Given the description of an element on the screen output the (x, y) to click on. 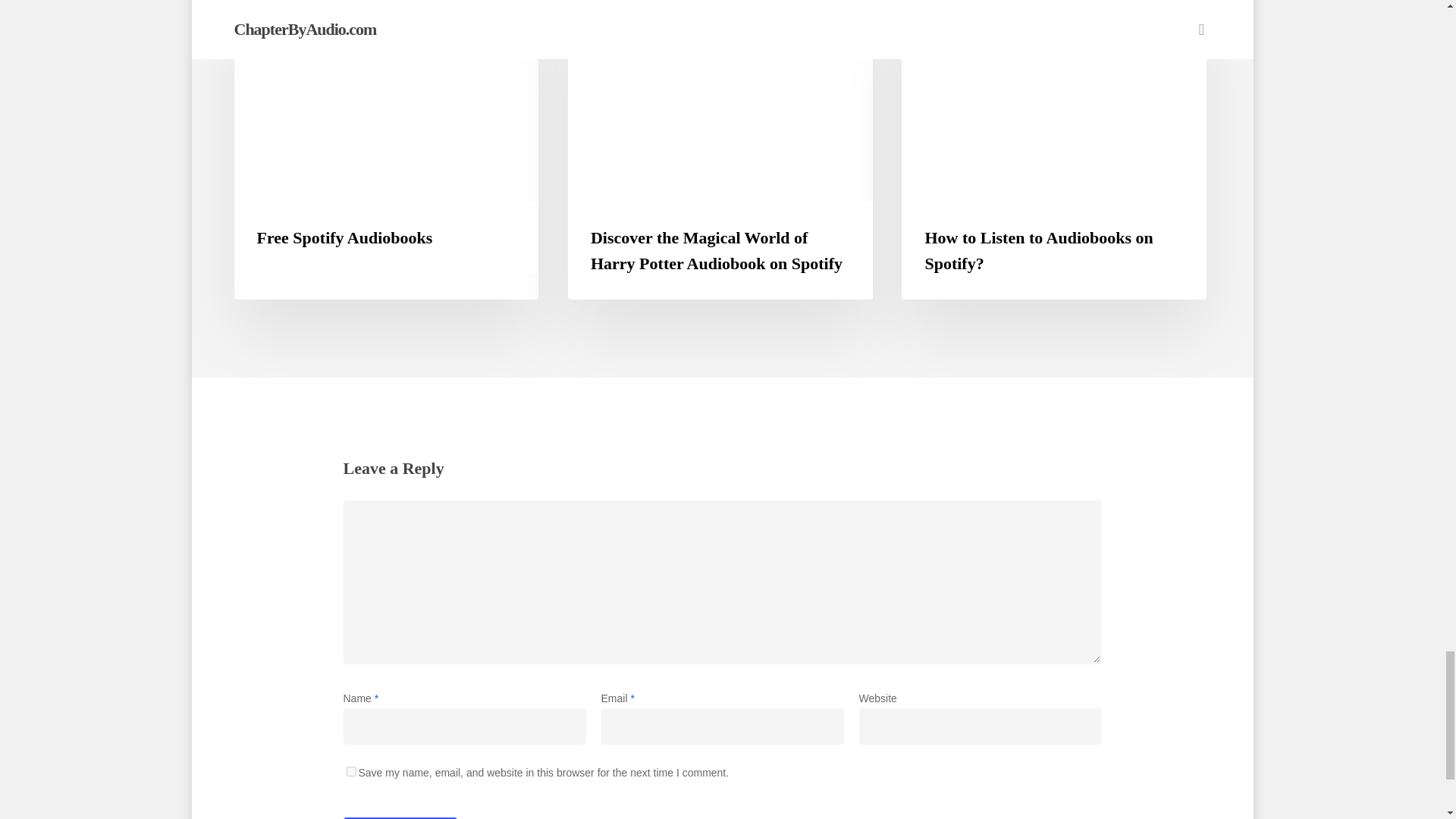
Submit Comment (399, 818)
SPOTIFY (276, 22)
SPOTIFY (945, 22)
yes (350, 771)
SPOTIFY (611, 22)
